Given the description of an element on the screen output the (x, y) to click on. 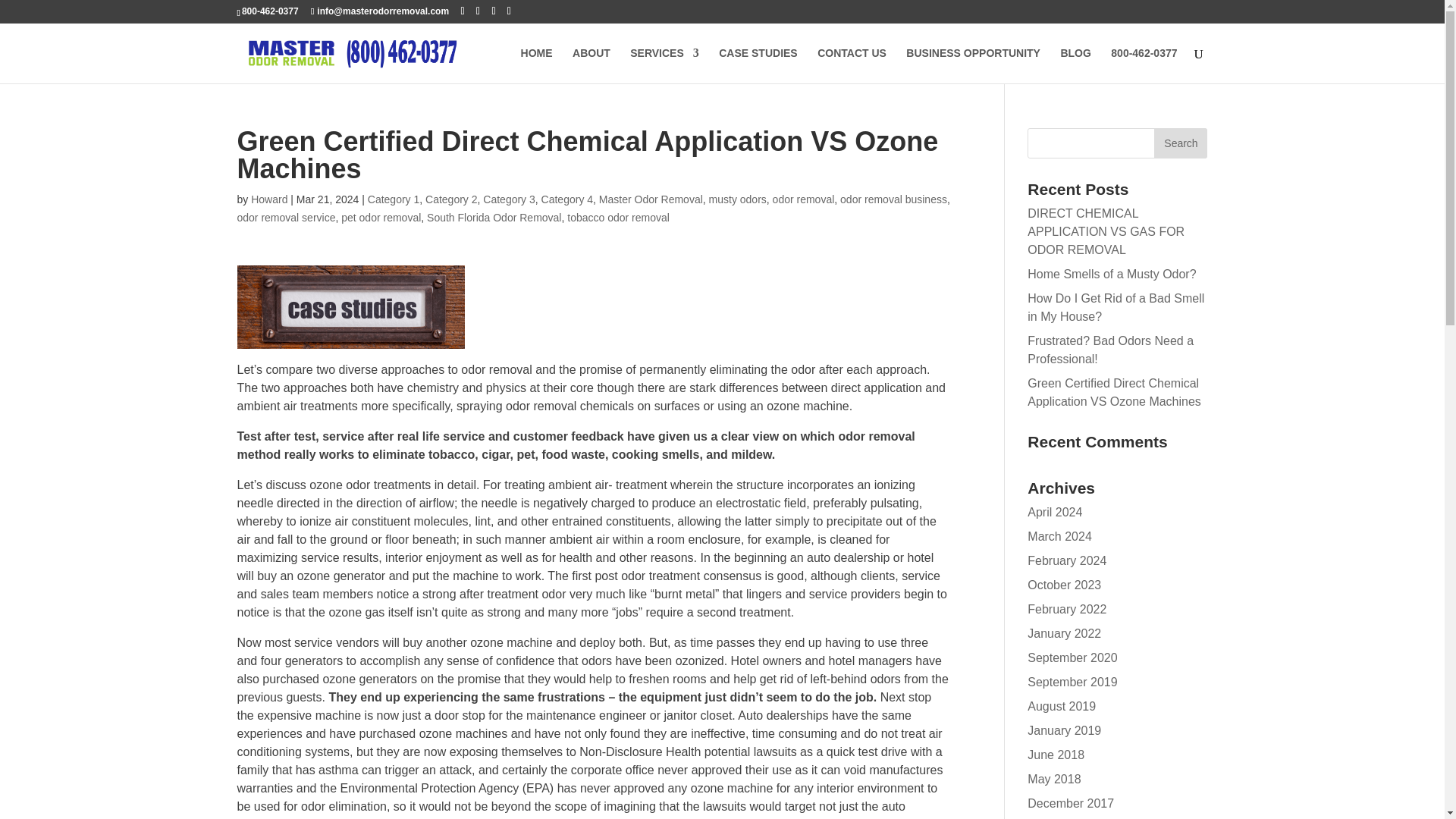
Category 1 (393, 199)
tobacco odor removal (618, 217)
Howard (268, 199)
Search (1180, 142)
CONTACT US (851, 65)
DIRECT CHEMICAL APPLICATION VS GAS FOR ODOR REMOVAL (1106, 231)
South Florida Odor Removal (493, 217)
Category 4 (566, 199)
Category 2 (451, 199)
CASE STUDIES (757, 65)
Posts by Howard (268, 199)
ABOUT (591, 65)
HOME (537, 65)
pet odor removal (380, 217)
odor removal business (893, 199)
